Given the description of an element on the screen output the (x, y) to click on. 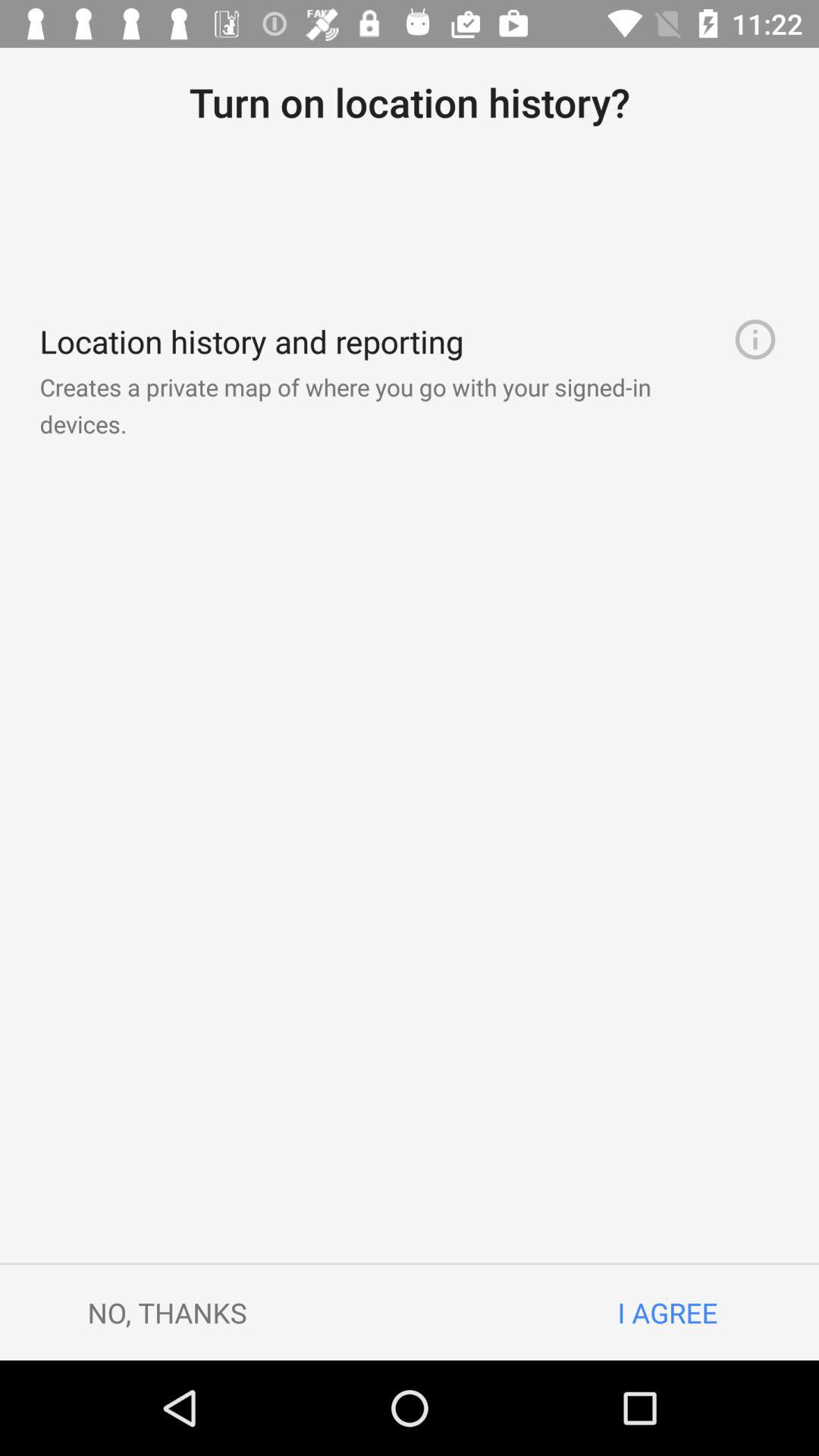
open the item next to no, thanks (667, 1312)
